Given the description of an element on the screen output the (x, y) to click on. 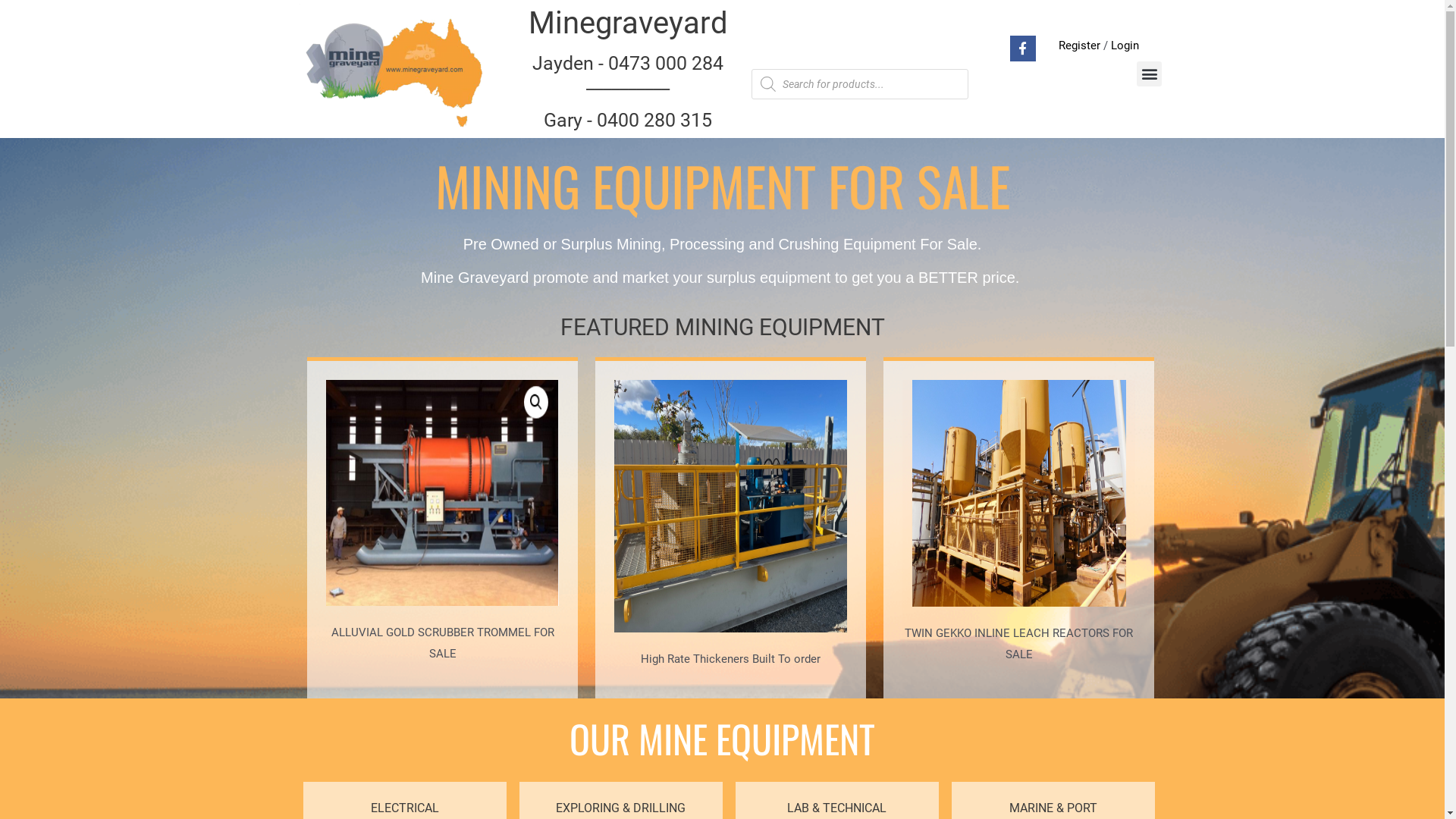
EXPLORING & DRILLING Element type: text (620, 807)
Jayden - 0473 000 284
__________

Gary - 0400 280 315 Element type: text (627, 91)
Login Element type: text (1124, 44)
Register Element type: text (1079, 44)
MARINE & PORT Element type: text (1053, 807)
ELECTRICAL Element type: text (404, 807)
LAB & TECHNICAL Element type: text (836, 807)
